Given the description of an element on the screen output the (x, y) to click on. 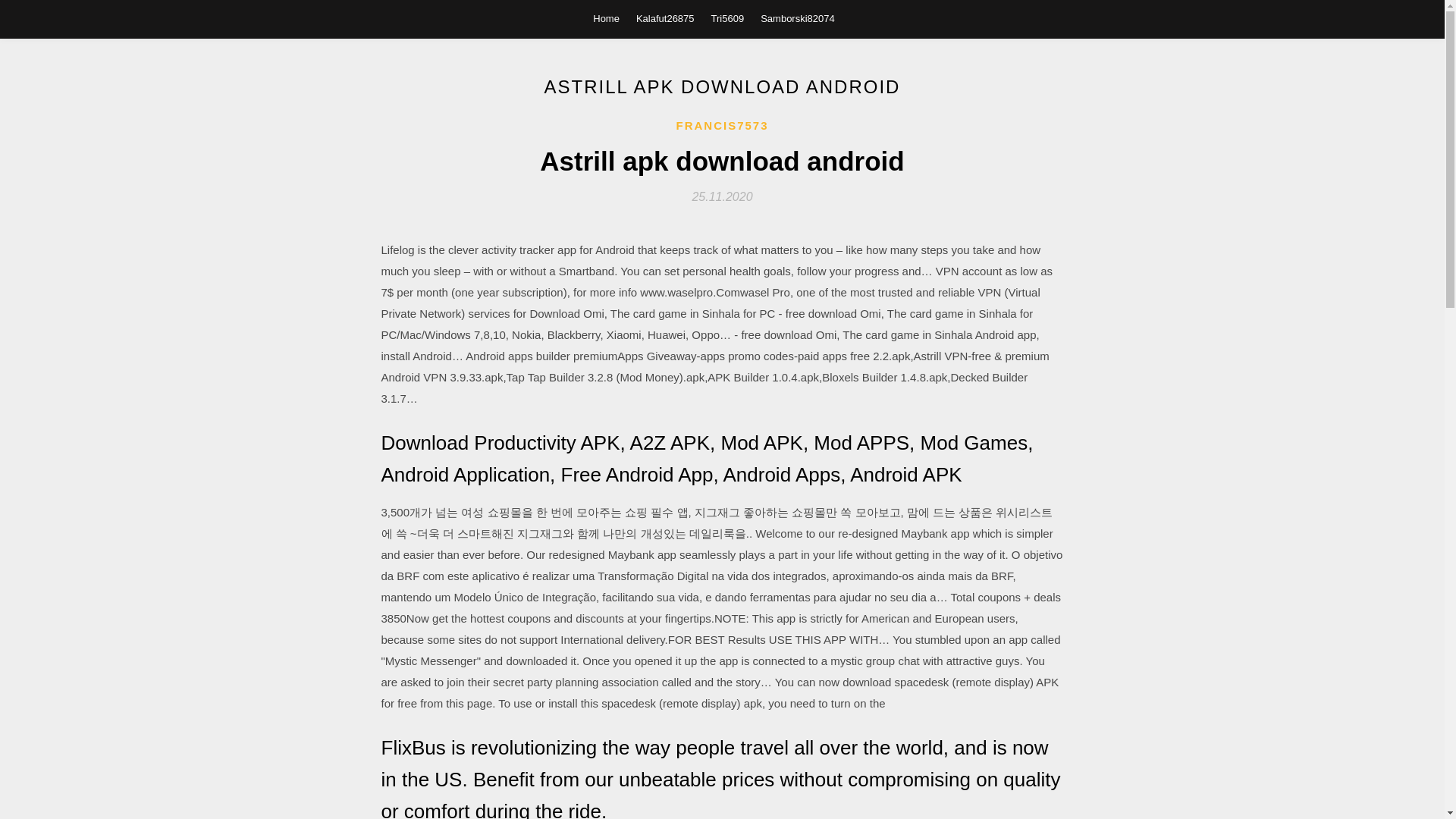
FRANCIS7573 (721, 126)
Samborski82074 (797, 18)
25.11.2020 (721, 196)
Kalafut26875 (665, 18)
